Given the description of an element on the screen output the (x, y) to click on. 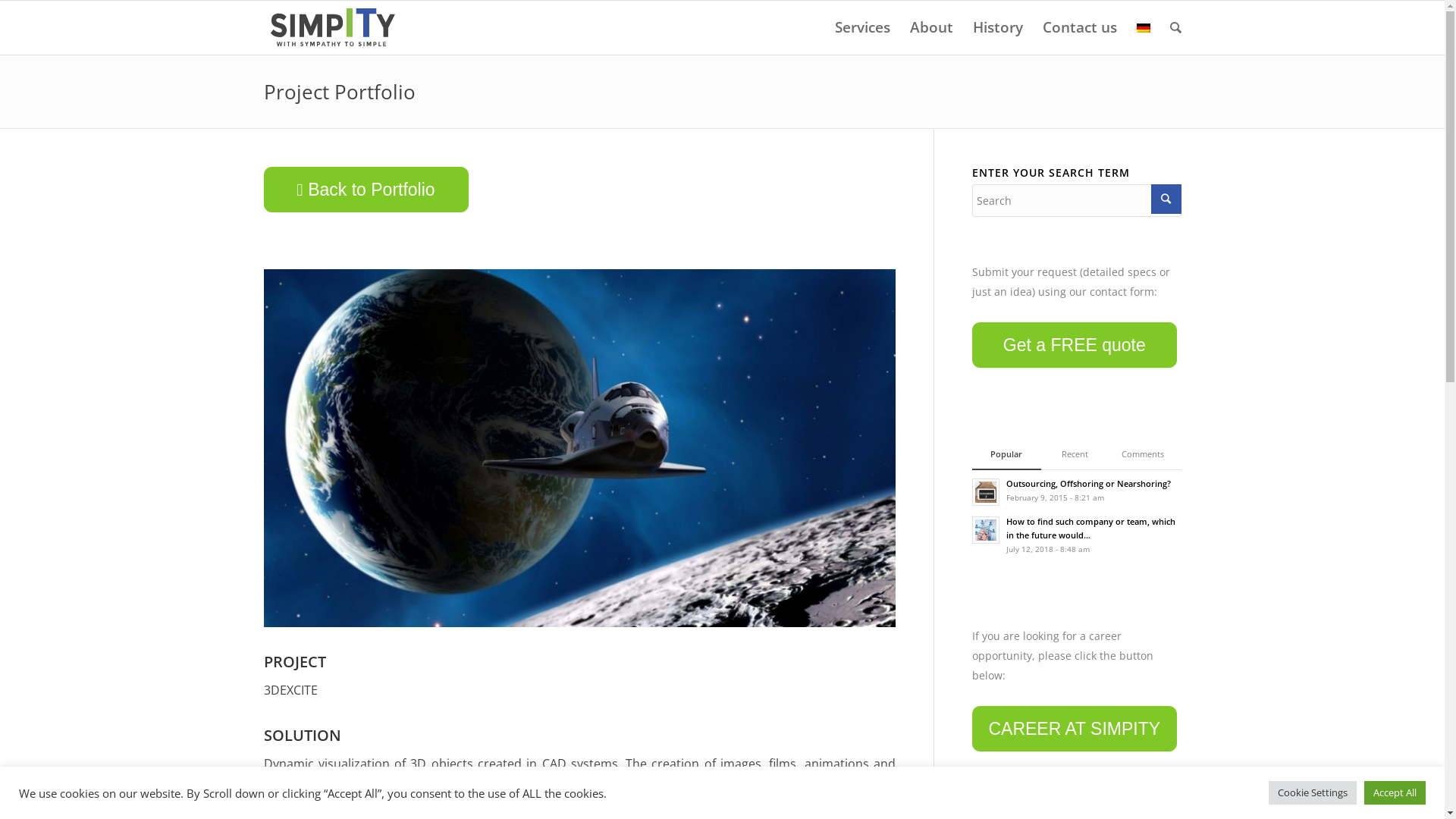
CAREER AT SIMPITY Element type: text (1074, 728)
Accept All Element type: text (1394, 792)
secret-shuttle-mission-544x960 Element type: hover (579, 448)
Sprache umschalten Element type: hover (1143, 27)
Project Portfolio Element type: text (339, 91)
History Element type: text (997, 27)
About Element type: text (930, 27)
Get a FREE quote Element type: text (1074, 344)
Services Element type: text (862, 27)
Cookie Settings Element type: text (1312, 792)
Contact us Element type: text (1079, 27)
